Given the description of an element on the screen output the (x, y) to click on. 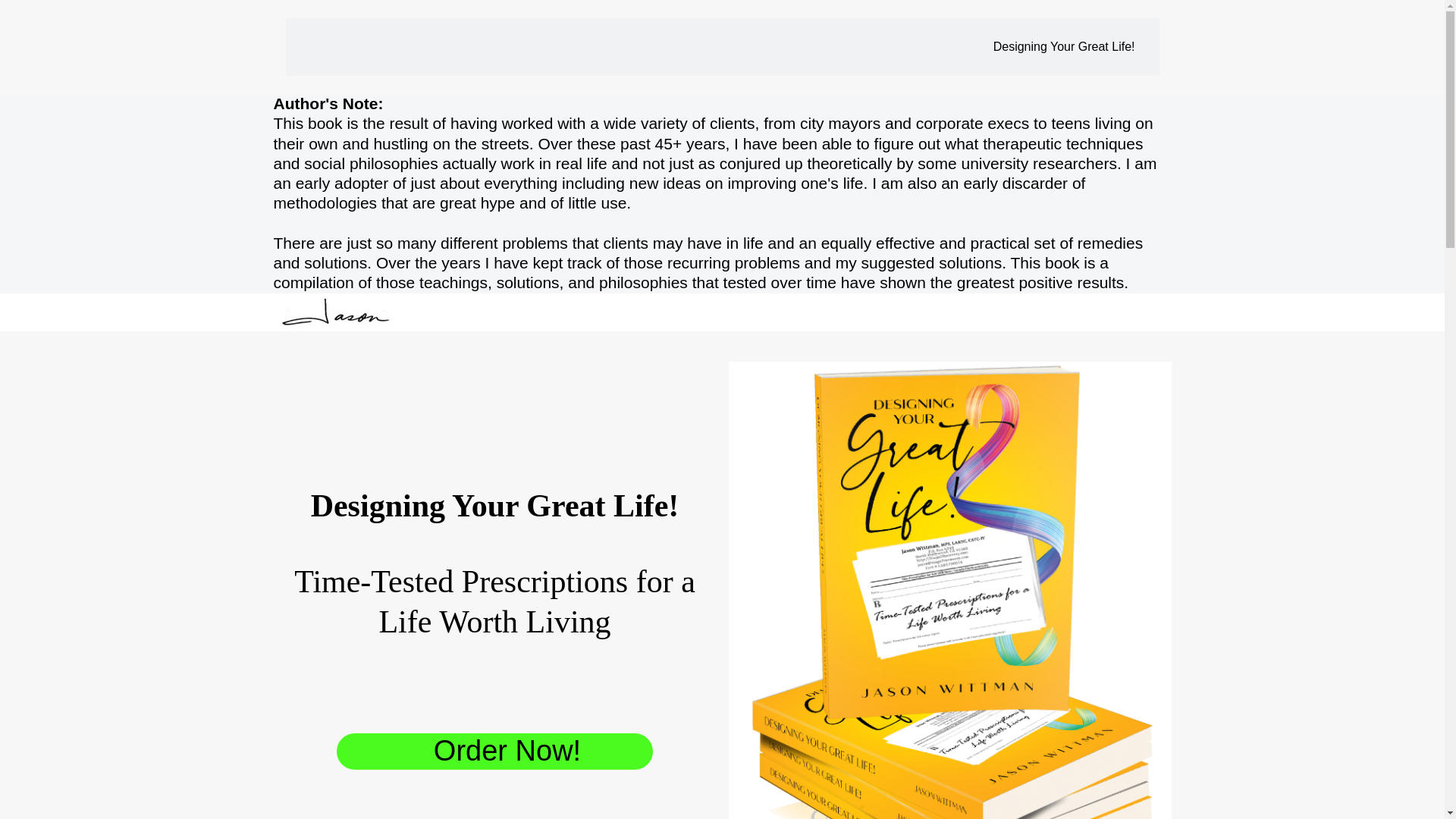
Designing Your Great Life! (1063, 46)
Order Now! (494, 751)
